Given the description of an element on the screen output the (x, y) to click on. 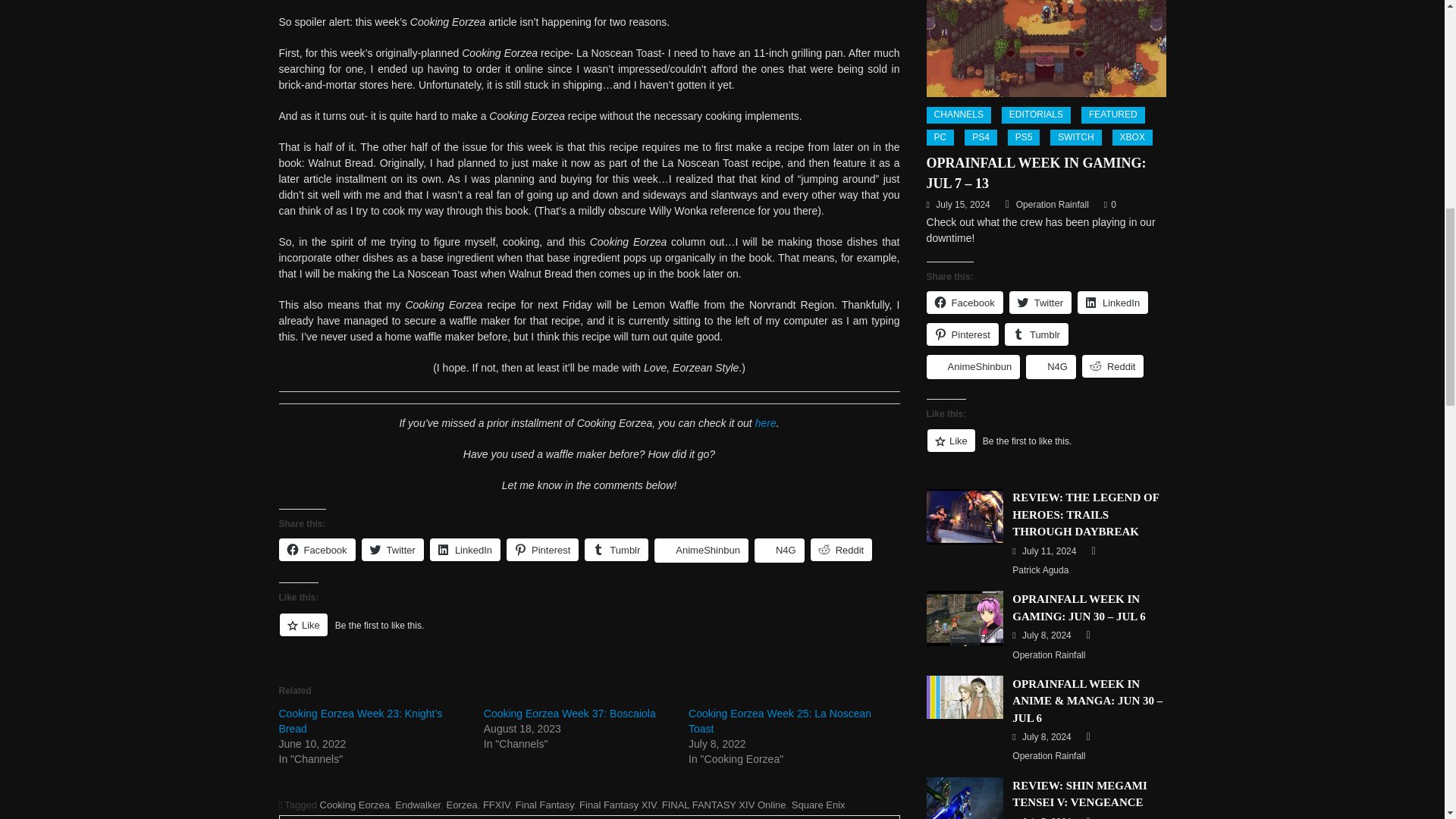
Cooking Eorzea Week 25: La Noscean Toast (779, 720)
Click to share on Pinterest (542, 549)
Facebook (317, 549)
Twitter (392, 549)
LinkedIn (464, 549)
here (765, 422)
Click to share on LinkedIn (464, 549)
Click to share on Tumblr (616, 549)
Click to share on Twitter (392, 549)
Like or Reblog (589, 633)
Pinterest (542, 549)
Click to share on AnimeShinbun (700, 550)
Cooking Eorzea Week 37: Boscaiola (569, 713)
Click to share on Facebook (317, 549)
Click to share on N4G (779, 550)
